Given the description of an element on the screen output the (x, y) to click on. 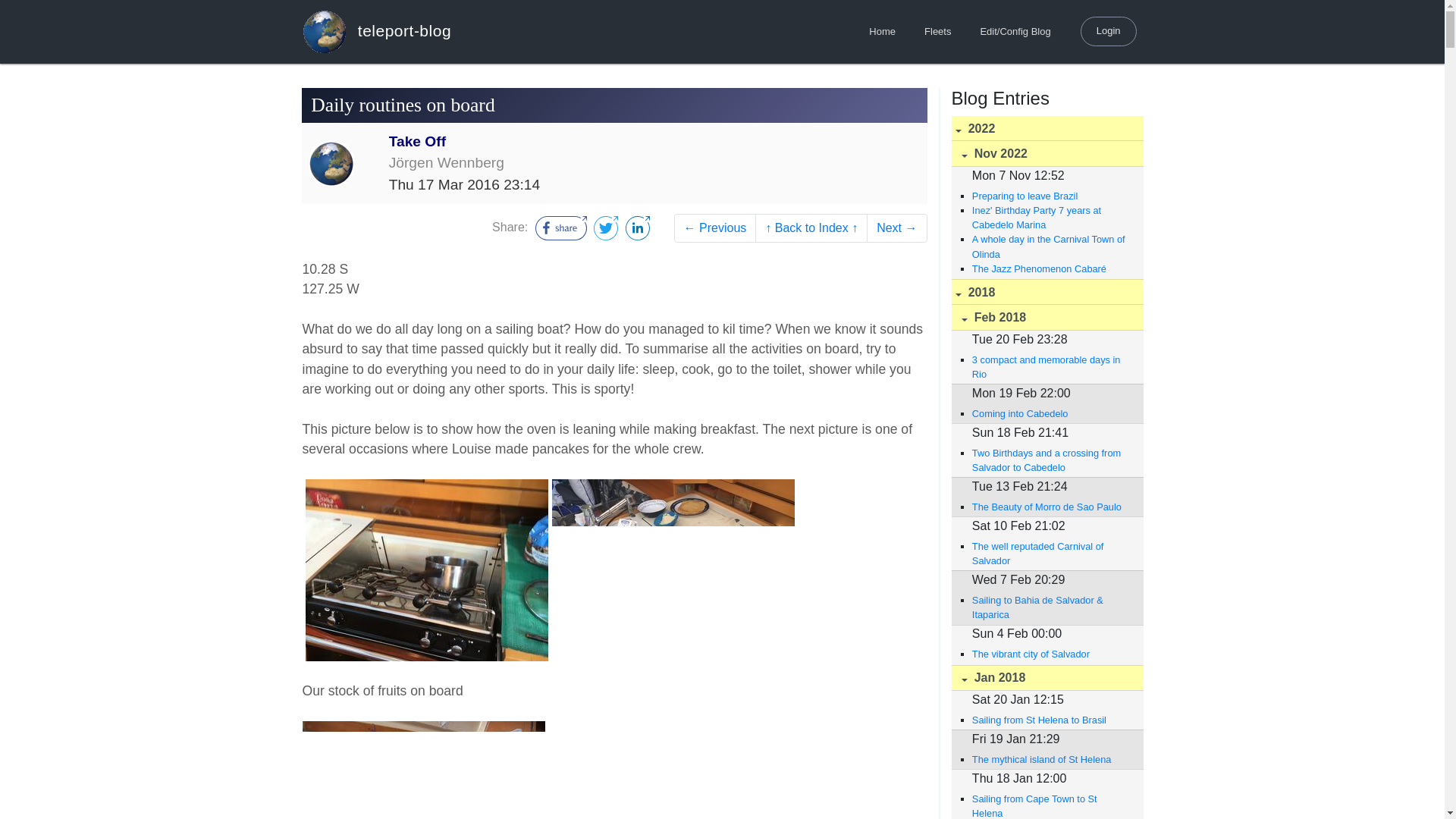
Login (1108, 30)
Preparing to leave Brazil (1050, 196)
A whole day in the Carnival Town of Olinda (1050, 246)
The vibrant city of Salvador (1050, 653)
The well reputaded Carnival of Salvador (1050, 553)
Nov 2022 (1046, 153)
2018 (1046, 292)
3 compact and memorable days in Rio (1050, 366)
Sailing from Cape Town to St Helena (1050, 805)
Two Birthdays and a crossing from Salvador to Cabedelo (1050, 460)
